Given the description of an element on the screen output the (x, y) to click on. 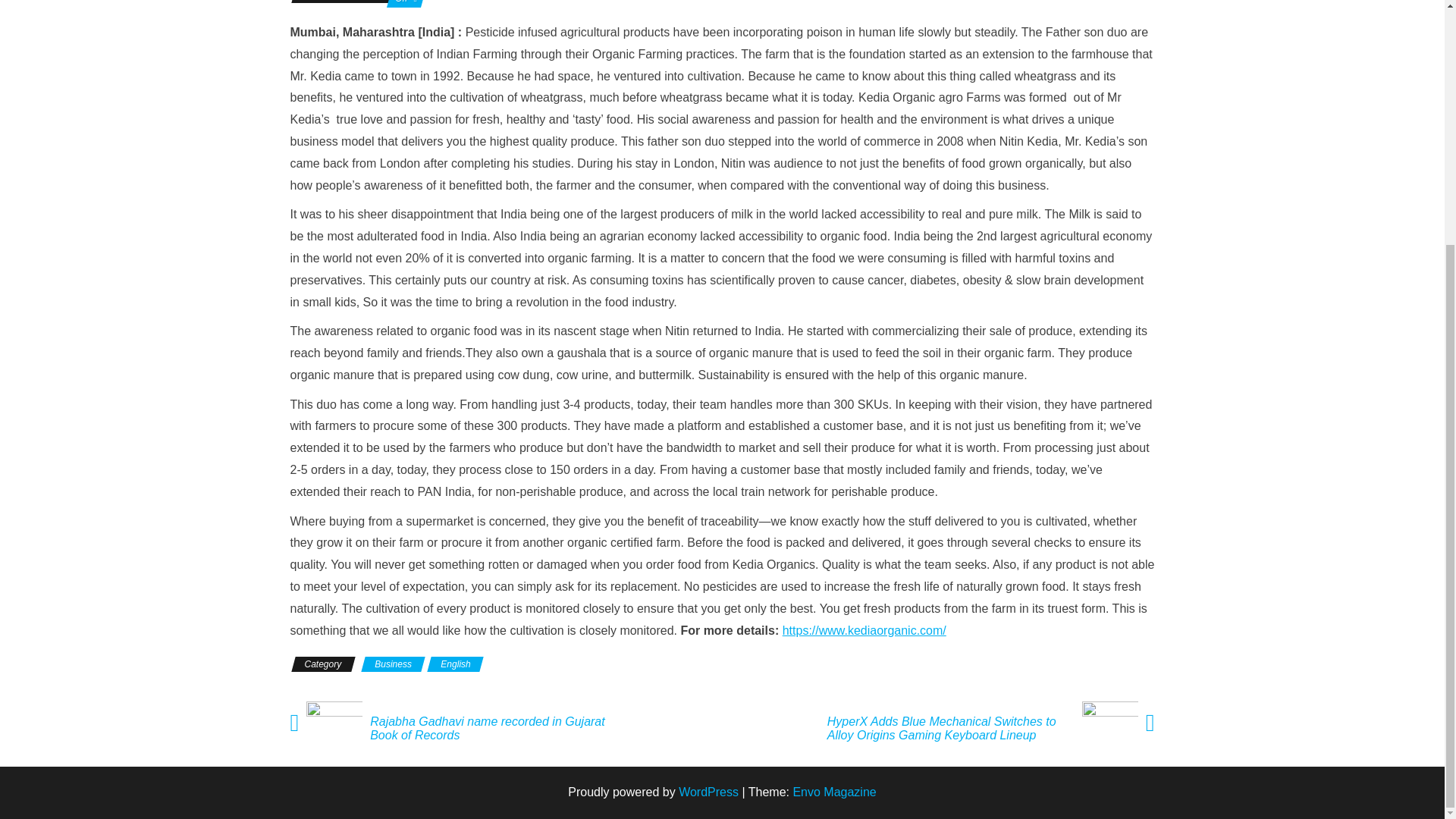
Envo Magazine (834, 791)
WordPress (708, 791)
English (455, 663)
Business (392, 663)
Rajabha Gadhavi name recorded in Gujarat Book of Records (496, 728)
